Given the description of an element on the screen output the (x, y) to click on. 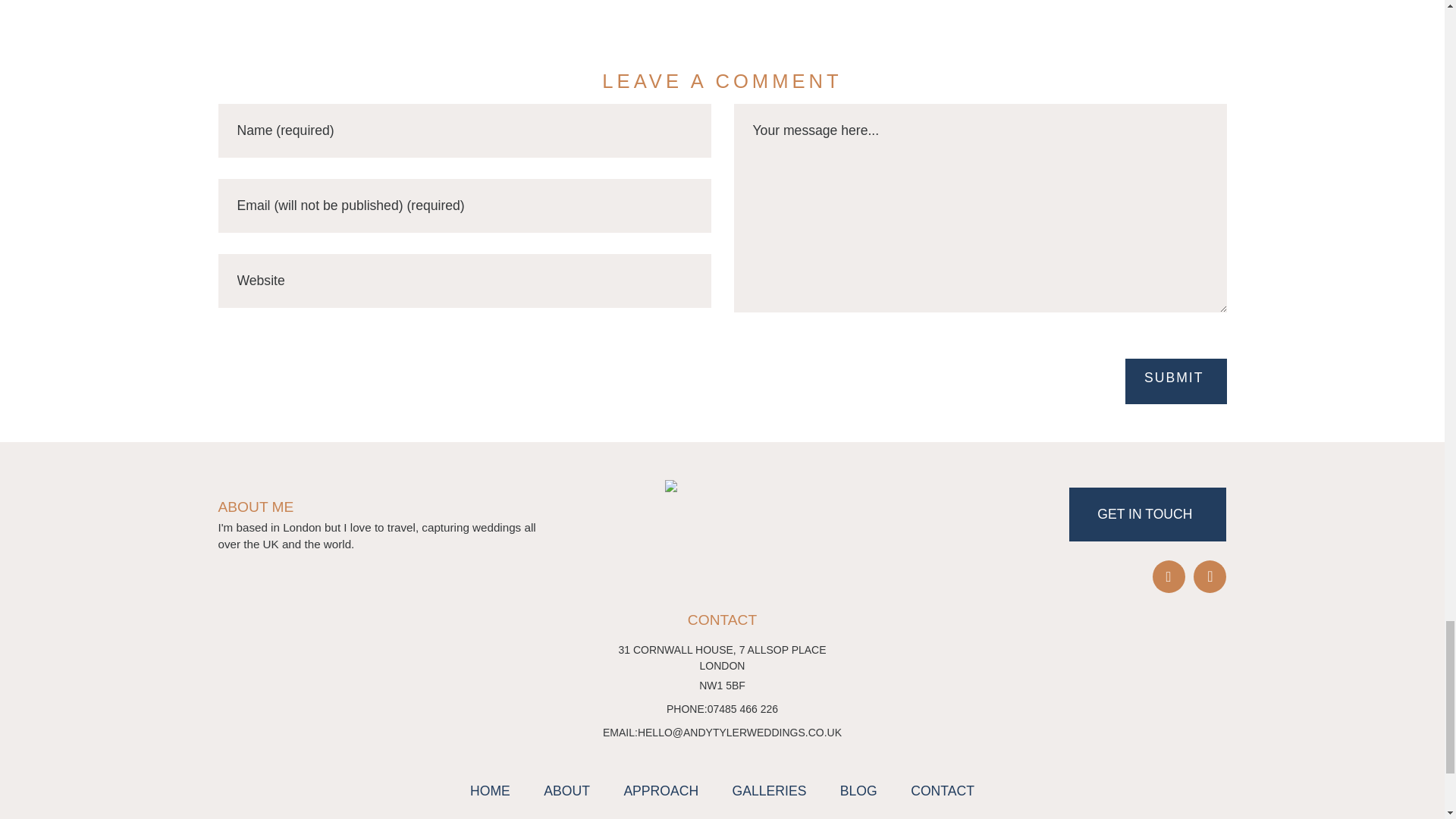
GET IN TOUCH (1146, 514)
ABOUT ME (378, 506)
07485 466 226 (742, 709)
Get In Touch (1146, 514)
SUBMIT (1175, 381)
